Given the description of an element on the screen output the (x, y) to click on. 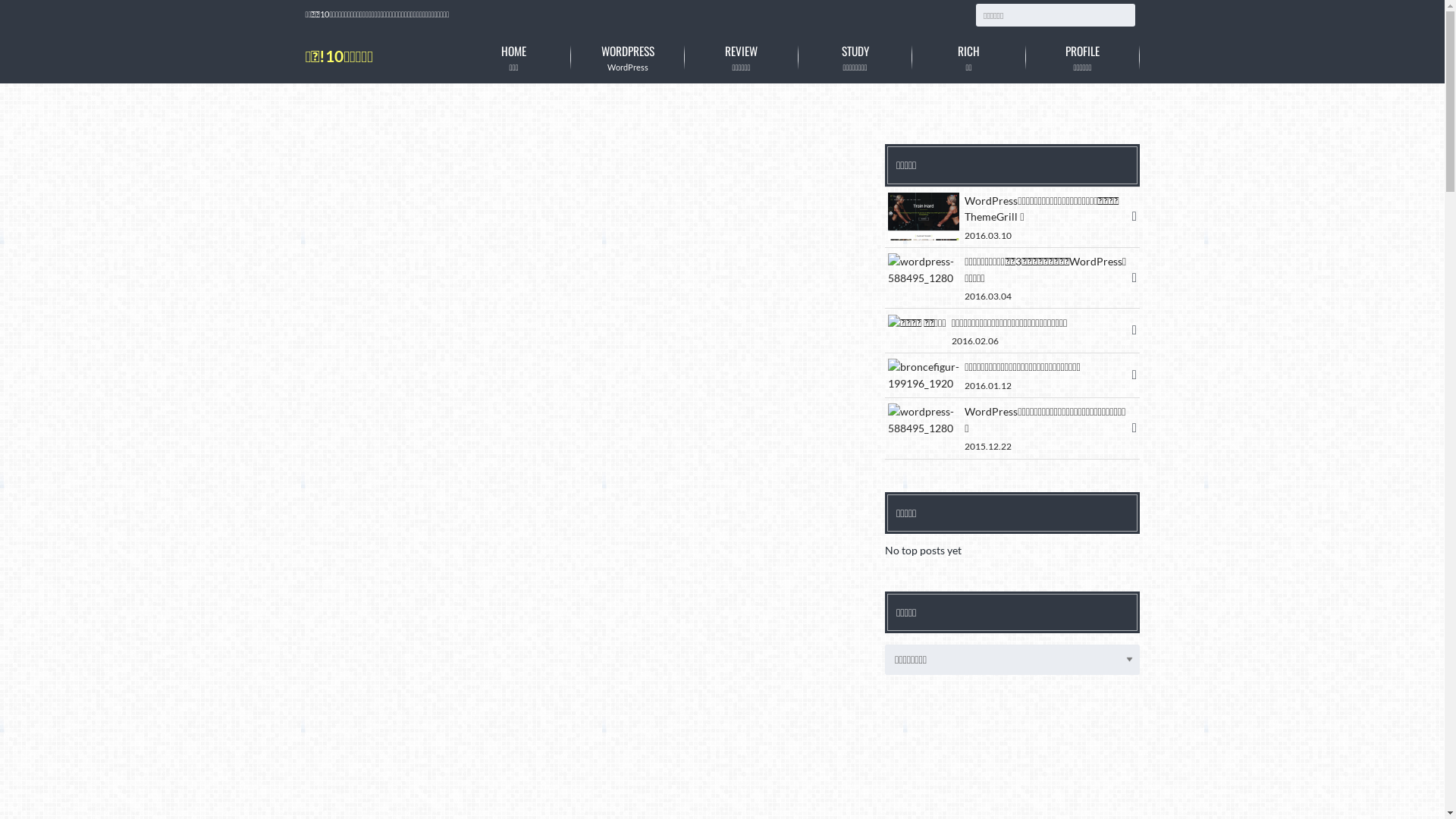
WordPress
WORDPRESS Element type: text (627, 56)
